Given the description of an element on the screen output the (x, y) to click on. 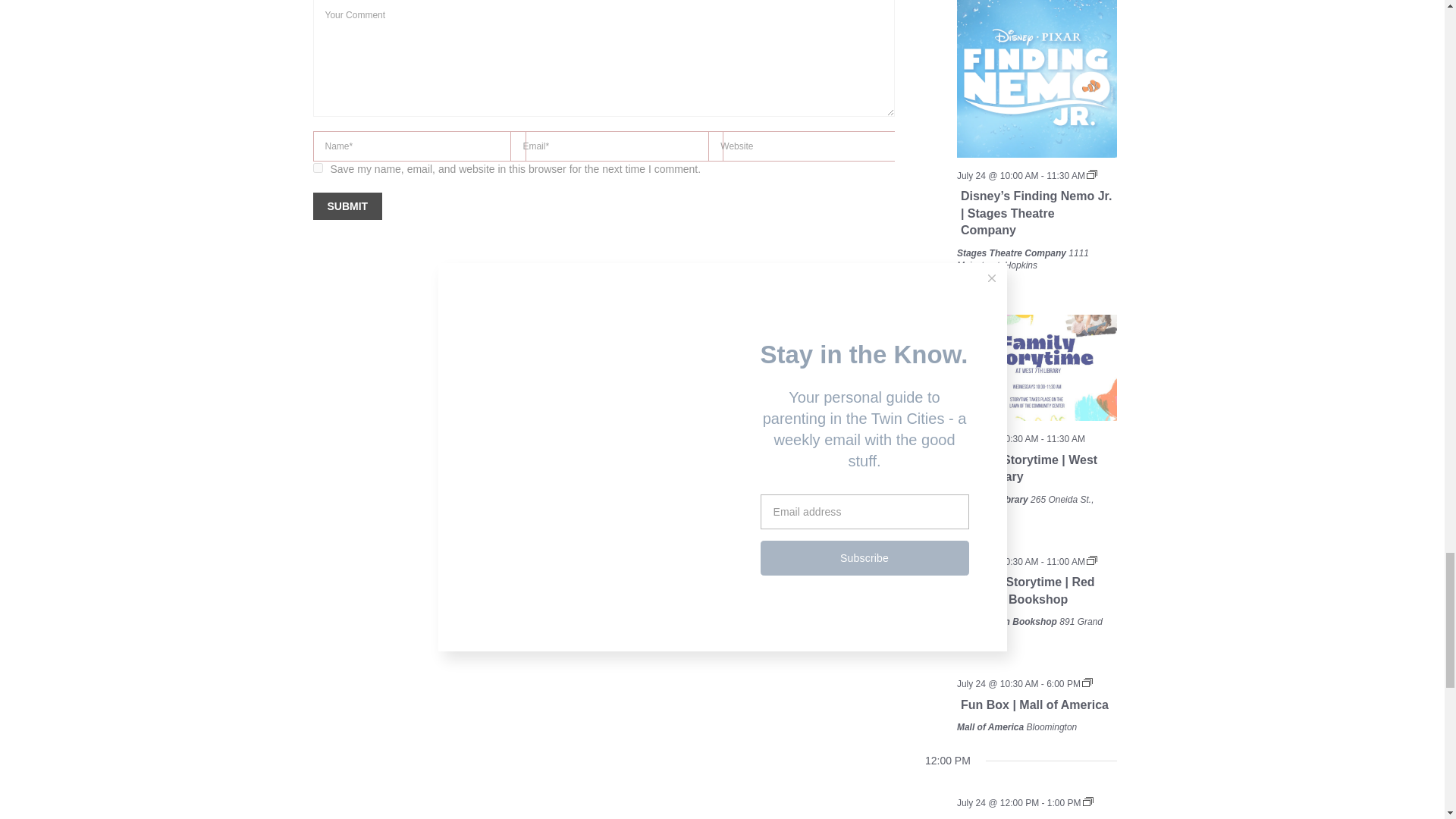
Submit (347, 206)
Event Series (1091, 174)
yes (317, 167)
Event Series (1087, 682)
Event Series (1091, 560)
Event Series (1088, 800)
